Given the description of an element on the screen output the (x, y) to click on. 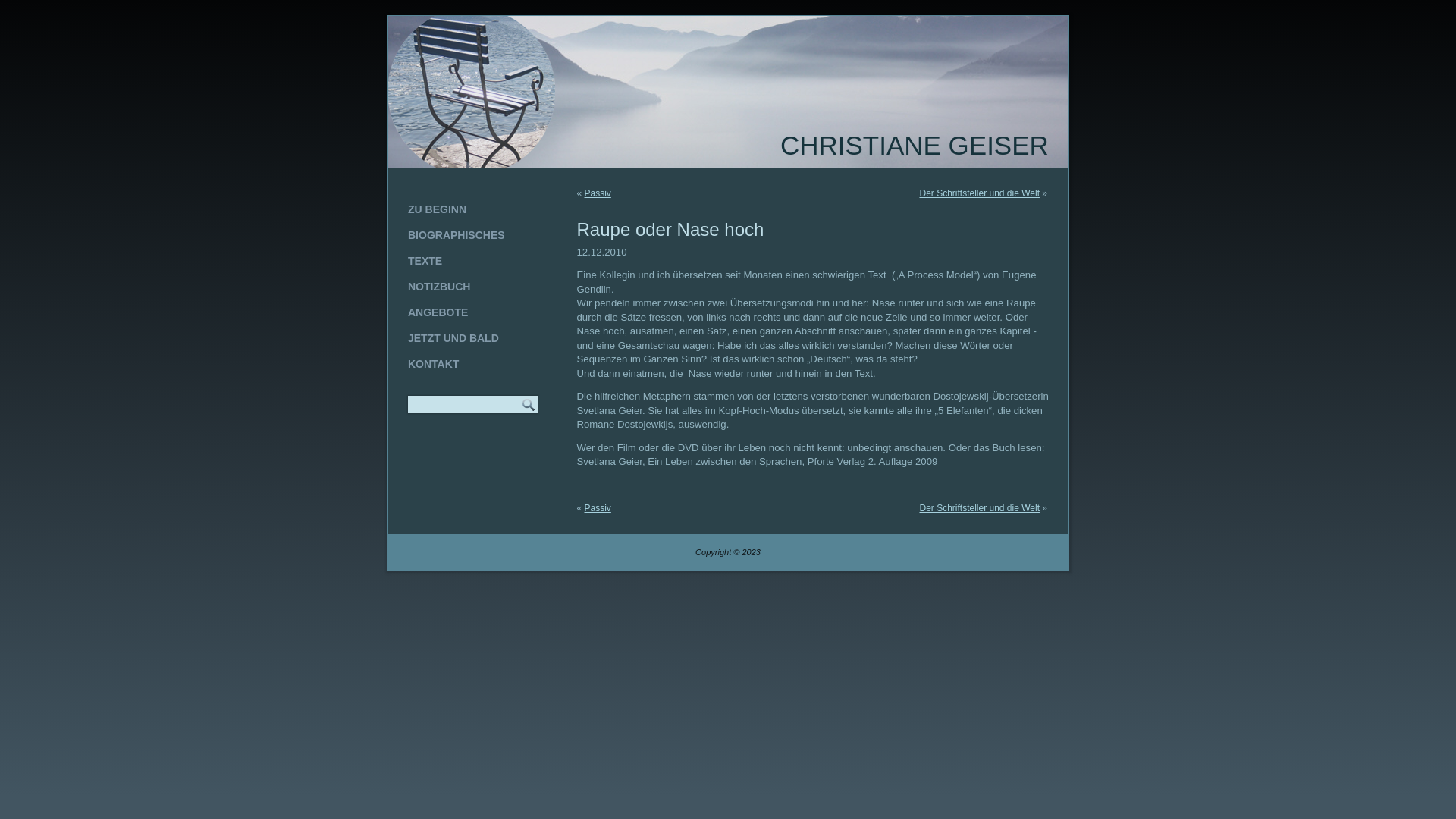
Der Schriftsteller und die Welt Element type: text (979, 193)
KONTAKT Element type: text (472, 363)
Passiv Element type: text (597, 193)
CHRISTIANE GEISER Element type: text (914, 145)
NOTIZBUCH Element type: text (472, 286)
TEXTE Element type: text (472, 260)
Der Schriftsteller und die Welt Element type: text (979, 507)
Passiv Element type: text (597, 507)
ANGEBOTE Element type: text (472, 312)
ZU BEGINN Element type: text (472, 208)
JETZT UND BALD Element type: text (472, 337)
BIOGRAPHISCHES Element type: text (472, 234)
